Given the description of an element on the screen output the (x, y) to click on. 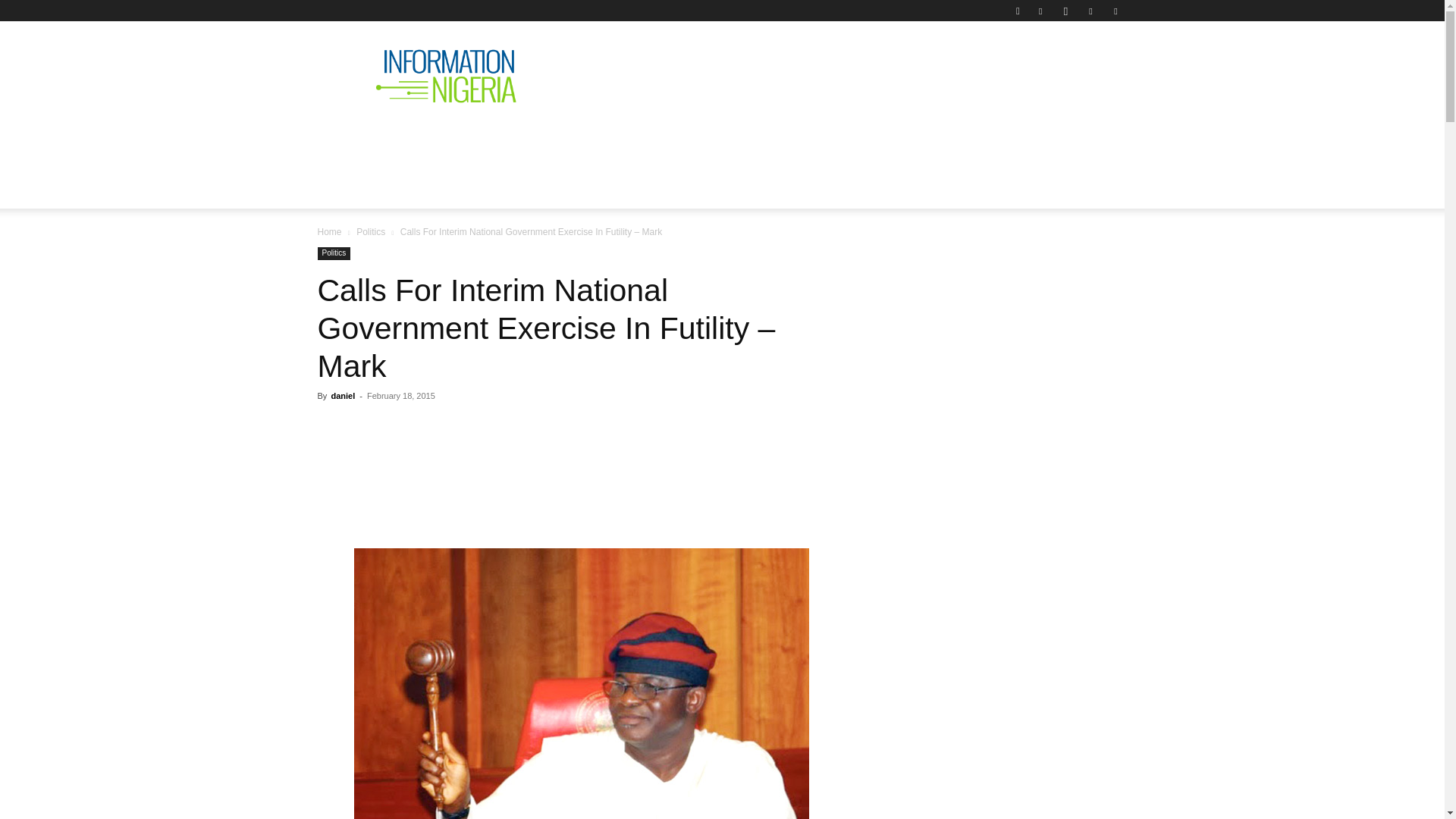
Nigeria News, Nigerian Newspaper (446, 76)
SPECIAL REPORTS (660, 139)
METRO NEWS (884, 139)
Search (1085, 64)
POLITICS (551, 139)
Instagram (1065, 10)
Twitter (1090, 10)
BBC PIDGIN (779, 139)
HOME (347, 139)
Facebook (1040, 10)
SPORTS (974, 139)
View all posts in Politics (370, 231)
Youtube (1114, 10)
NATIONAL NEWS (444, 139)
